Given the description of an element on the screen output the (x, y) to click on. 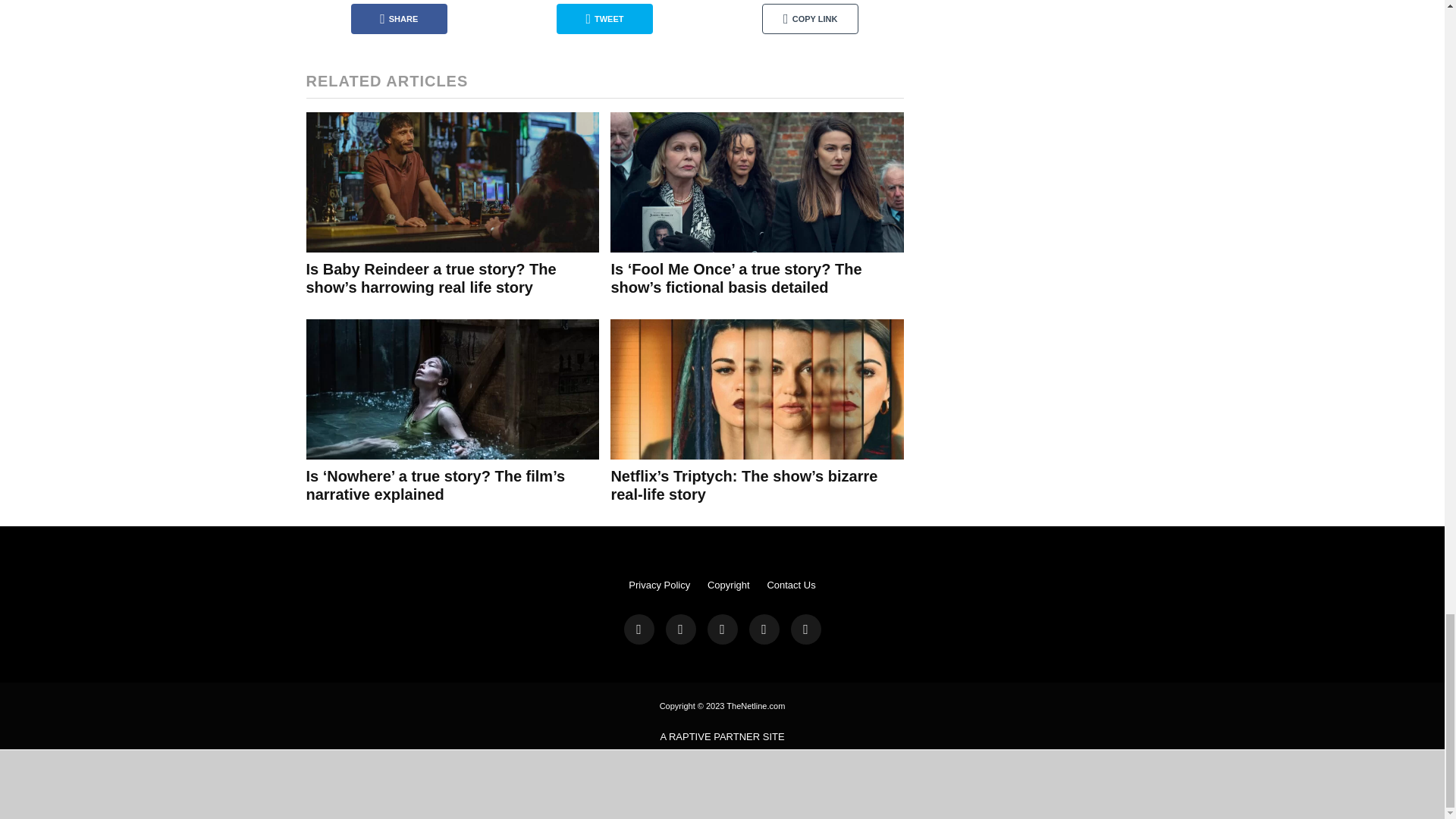
Contact Us (791, 584)
COPY LINK (810, 19)
Privacy Policy (659, 584)
TWEET (604, 19)
Copyright (728, 584)
SHARE (398, 19)
